Given the description of an element on the screen output the (x, y) to click on. 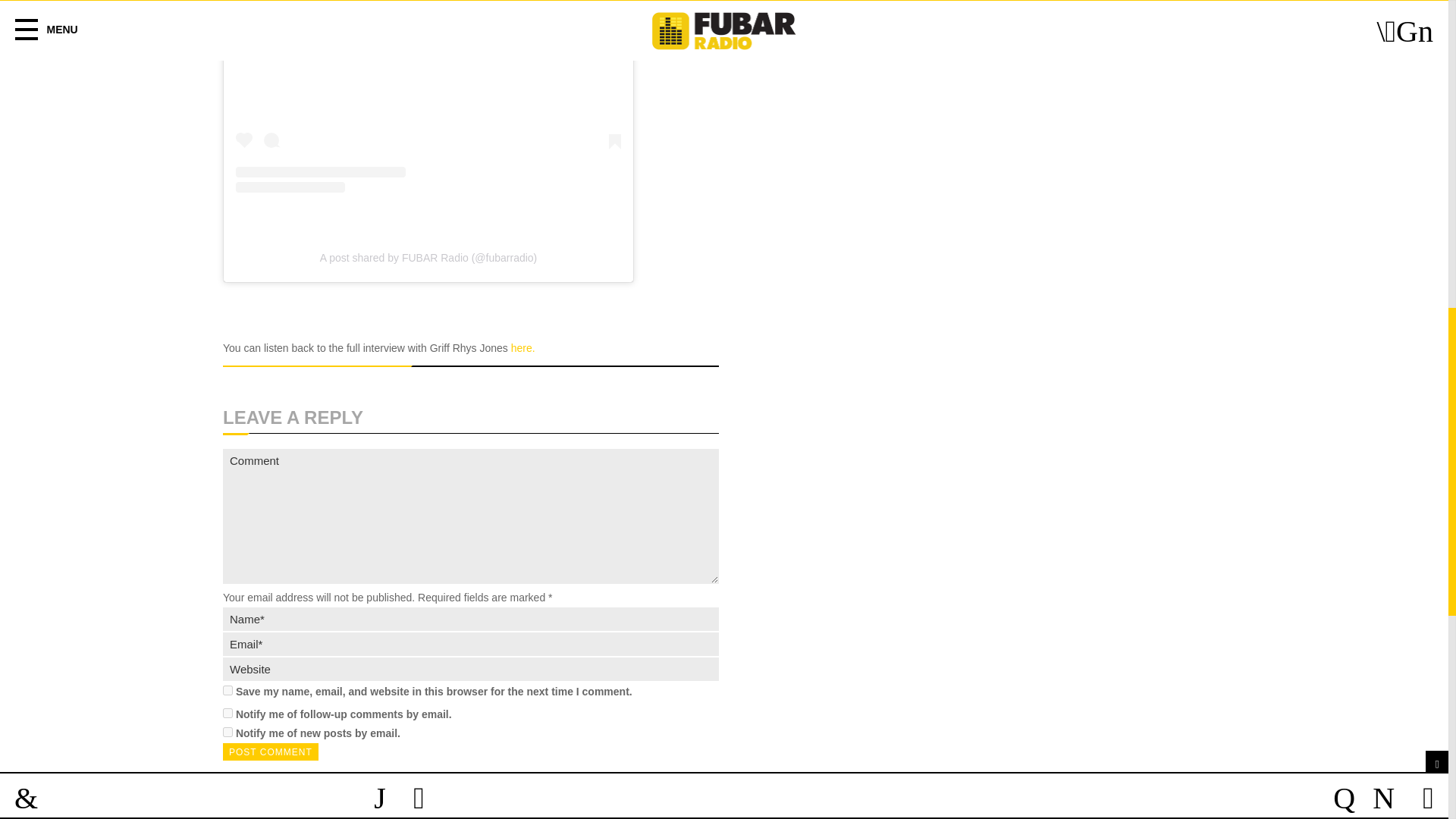
Post Comment (270, 751)
here. (523, 347)
subscribe (227, 732)
subscribe (227, 713)
Post Comment (270, 751)
yes (227, 690)
